Given the description of an element on the screen output the (x, y) to click on. 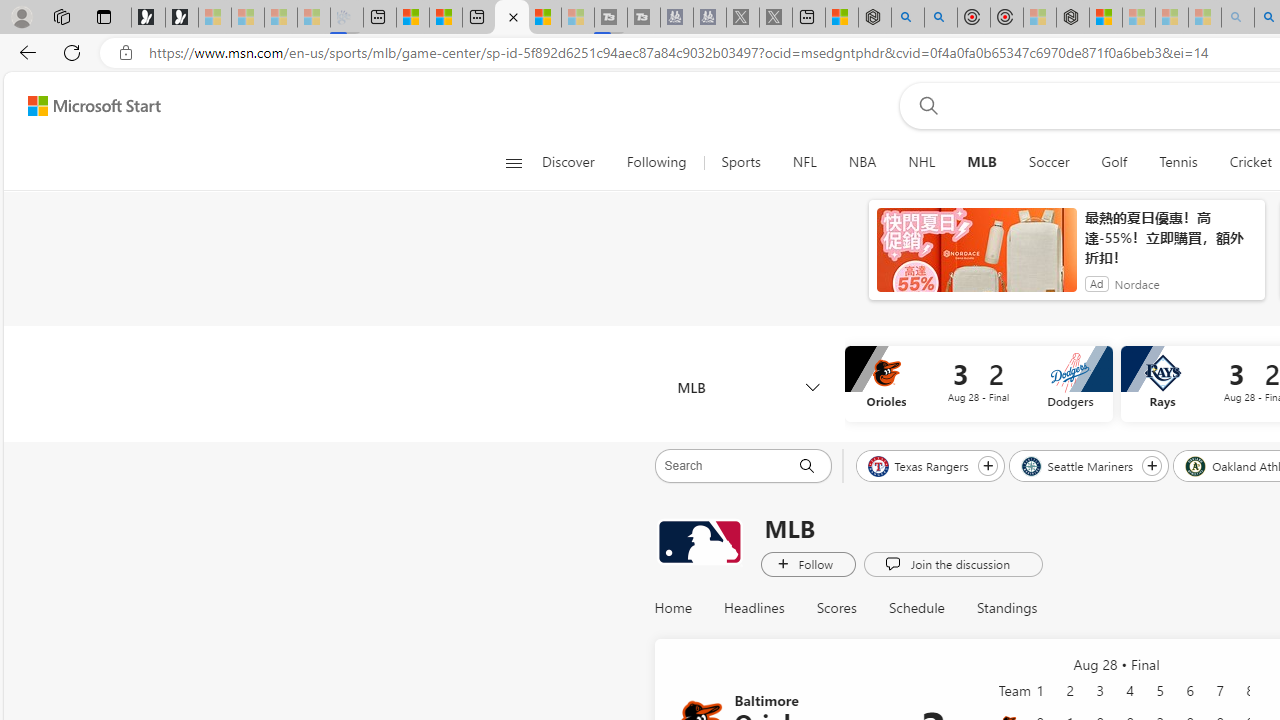
Schedule (916, 607)
Headlines (754, 607)
Streaming Coverage | T3 - Sleeping (611, 17)
Sports (740, 162)
MLB (981, 162)
Sports (740, 162)
Newsletter Sign Up (182, 17)
Scores (836, 607)
Wildlife - MSN (841, 17)
Cricket (1250, 162)
Standings (1006, 607)
poe - Search (908, 17)
